Given the description of an element on the screen output the (x, y) to click on. 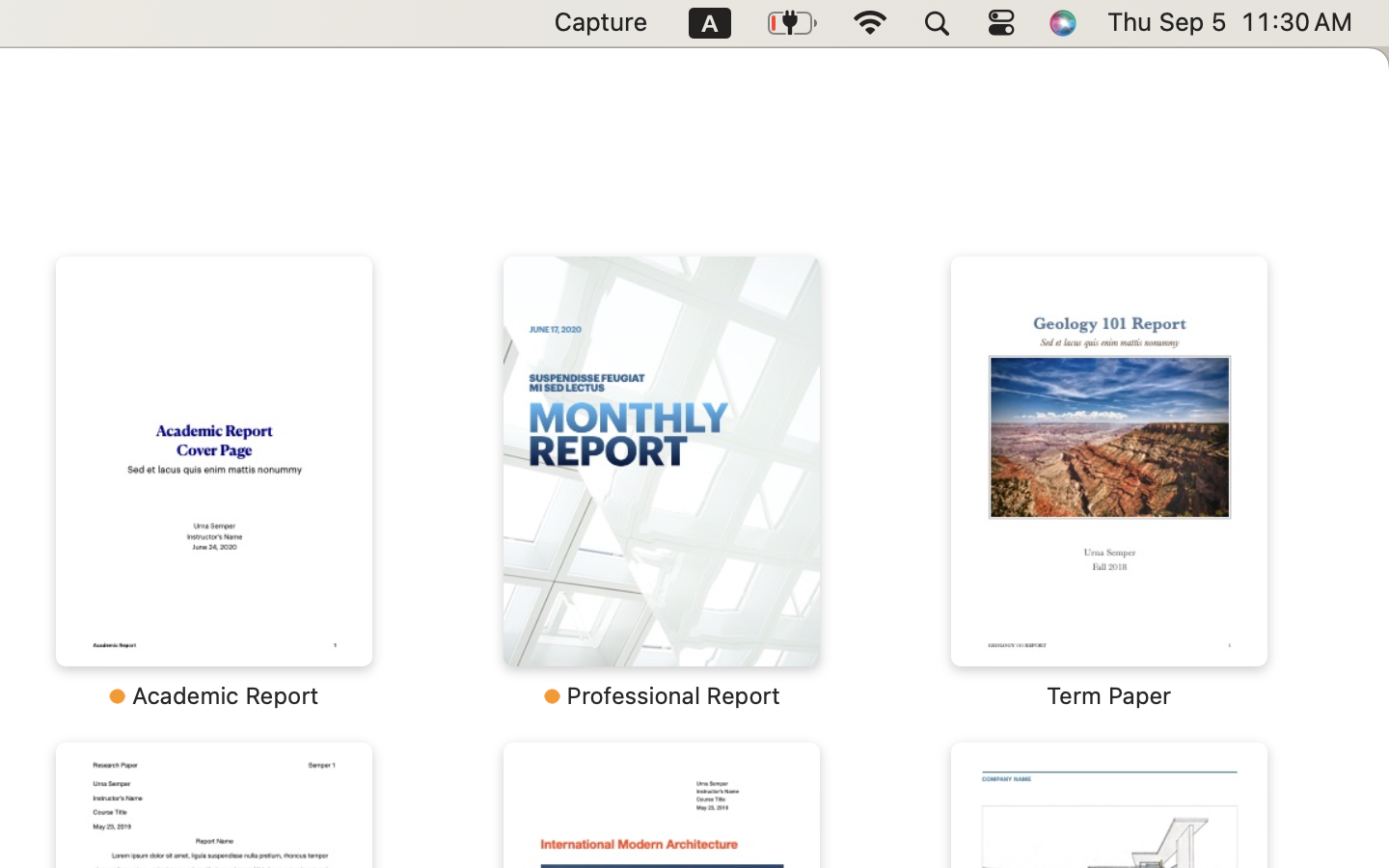
‎￼ ⁨Professional Report⁩ Element type: AXButton (661, 483)
‎⁨Term Paper⁩ Element type: AXButton (1109, 483)
